Given the description of an element on the screen output the (x, y) to click on. 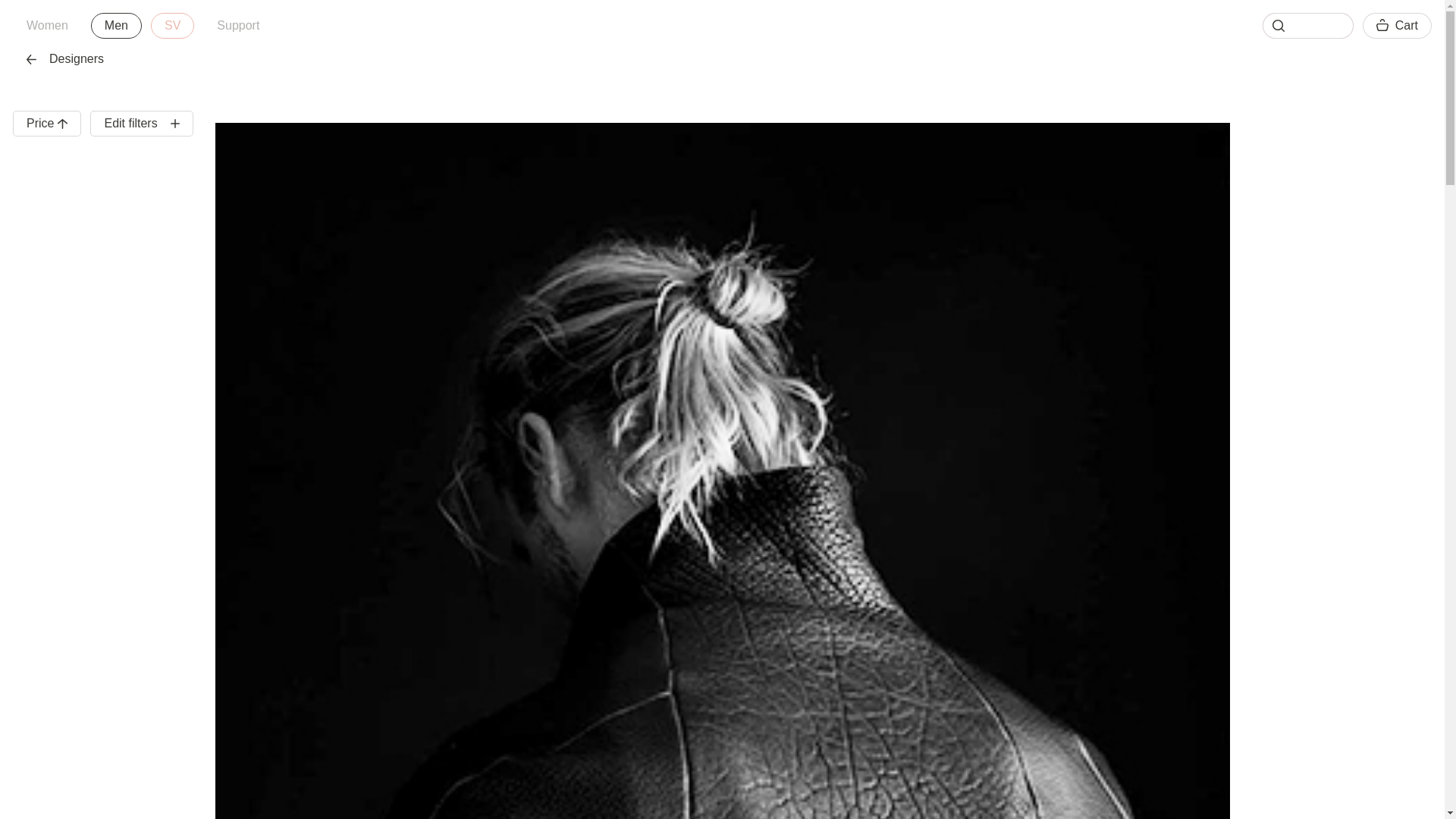
SV (172, 25)
Edit filters (141, 123)
Support (238, 25)
Designers (143, 25)
Women (65, 58)
Men (47, 25)
Price (115, 25)
Leon Emanuel Blanck (47, 123)
